Given the description of an element on the screen output the (x, y) to click on. 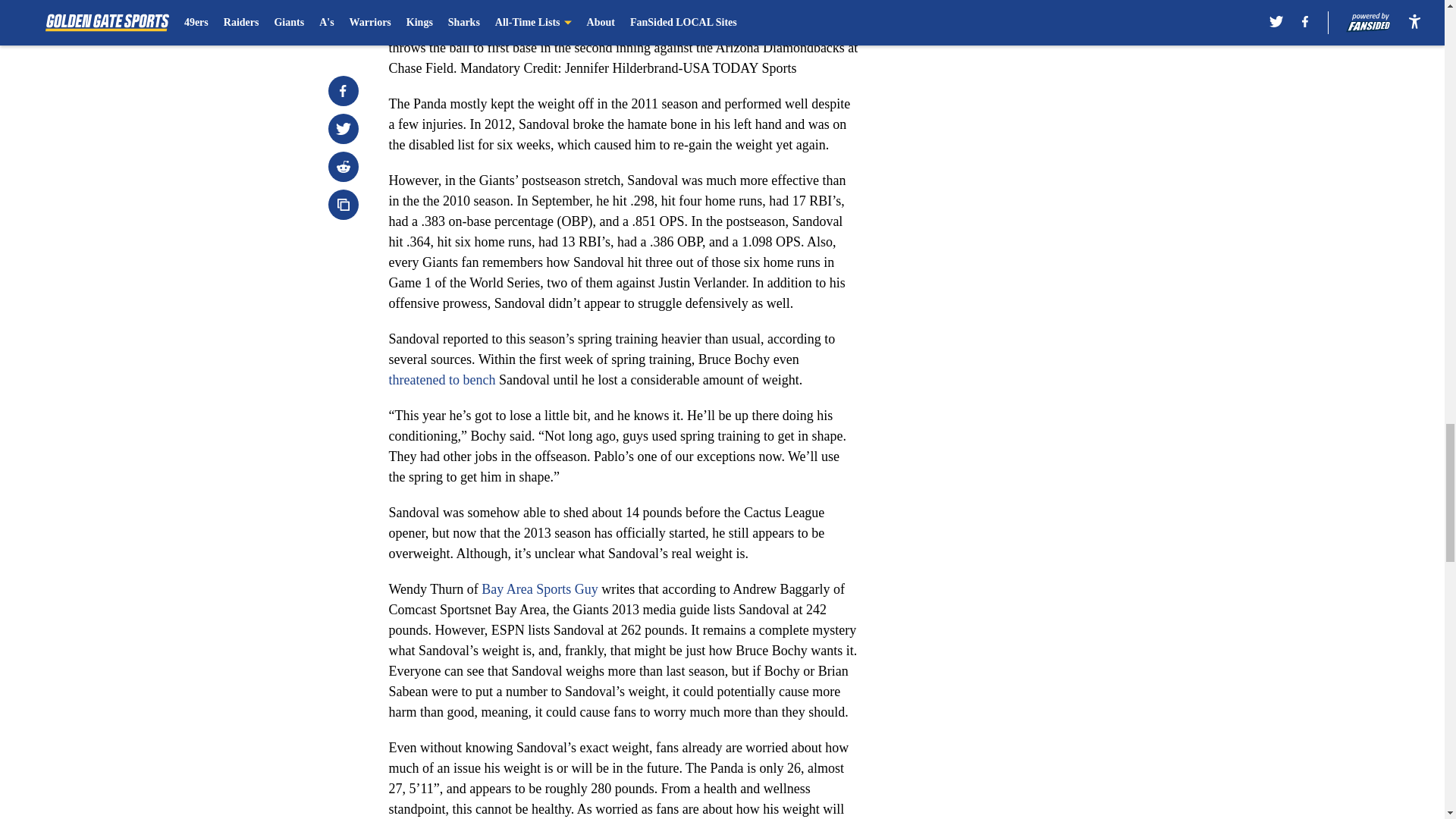
threatened to bench (441, 379)
Bay Area Sports Guy (538, 589)
